Given the description of an element on the screen output the (x, y) to click on. 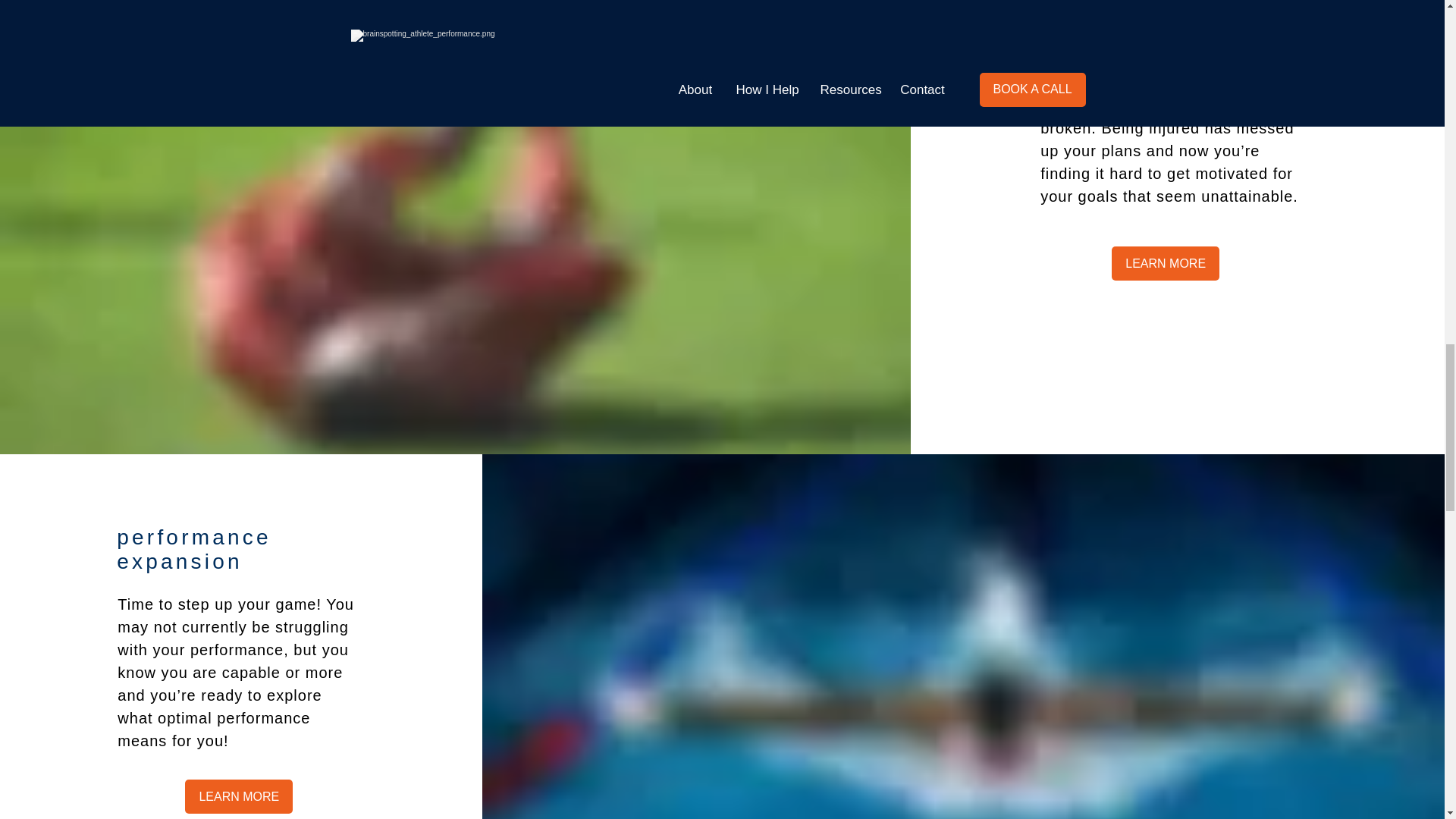
LEARN MORE (238, 796)
LEARN MORE (1166, 263)
